Given the description of an element on the screen output the (x, y) to click on. 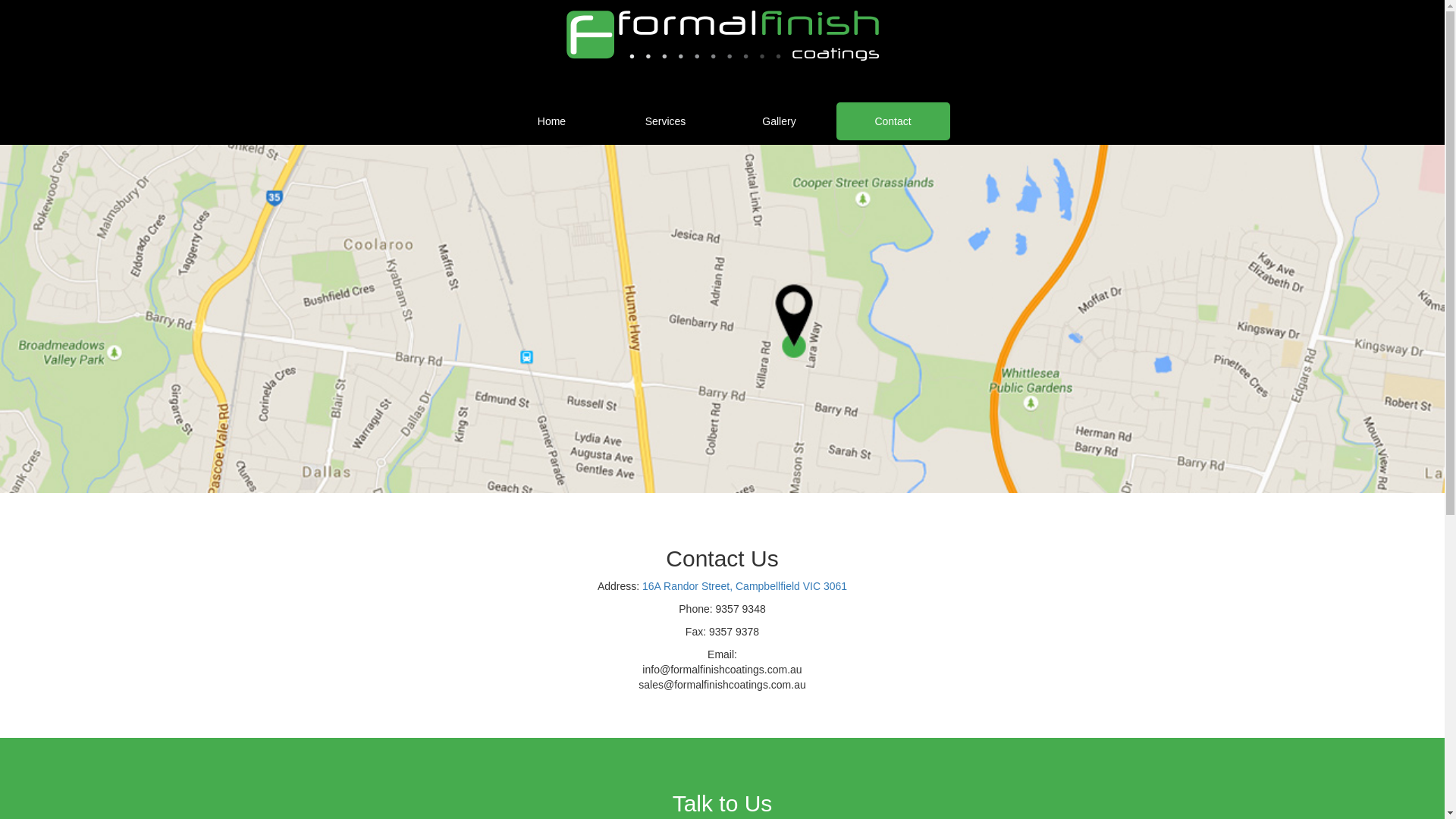
Formal Finish Coatings Element type: hover (722, 35)
16A Randor Street, Campbellfield VIC 3061 Element type: text (744, 586)
Contact Element type: text (892, 121)
Services Element type: text (664, 121)
Gallery Element type: text (778, 121)
Home Element type: text (551, 121)
